Given the description of an element on the screen output the (x, y) to click on. 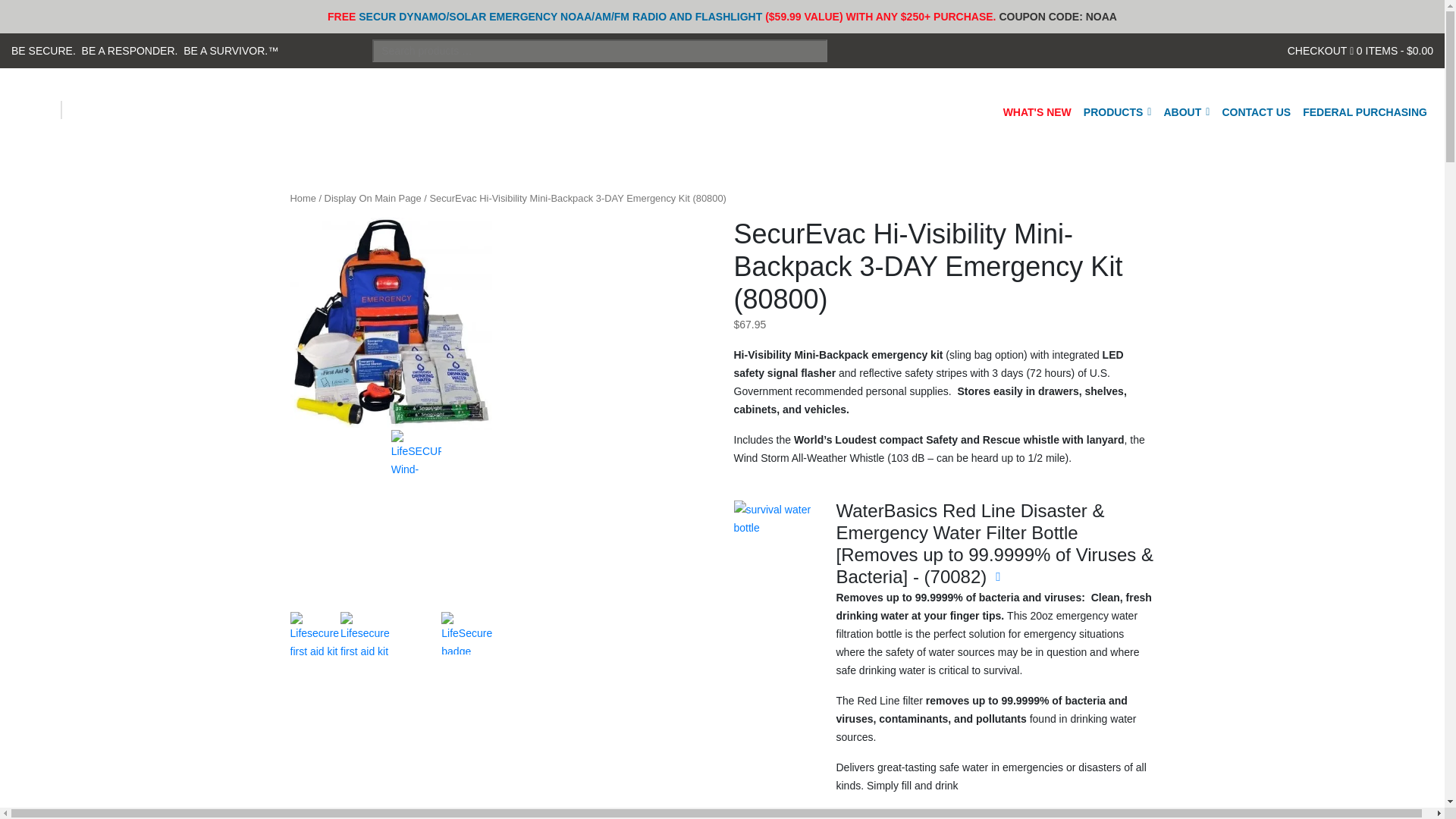
PRODUCTS (1117, 110)
Start shopping (1390, 50)
CHECKOUT (1317, 50)
80800 (390, 323)
featured-2 (775, 544)
WHAT'S NEW (1037, 110)
